Given the description of an element on the screen output the (x, y) to click on. 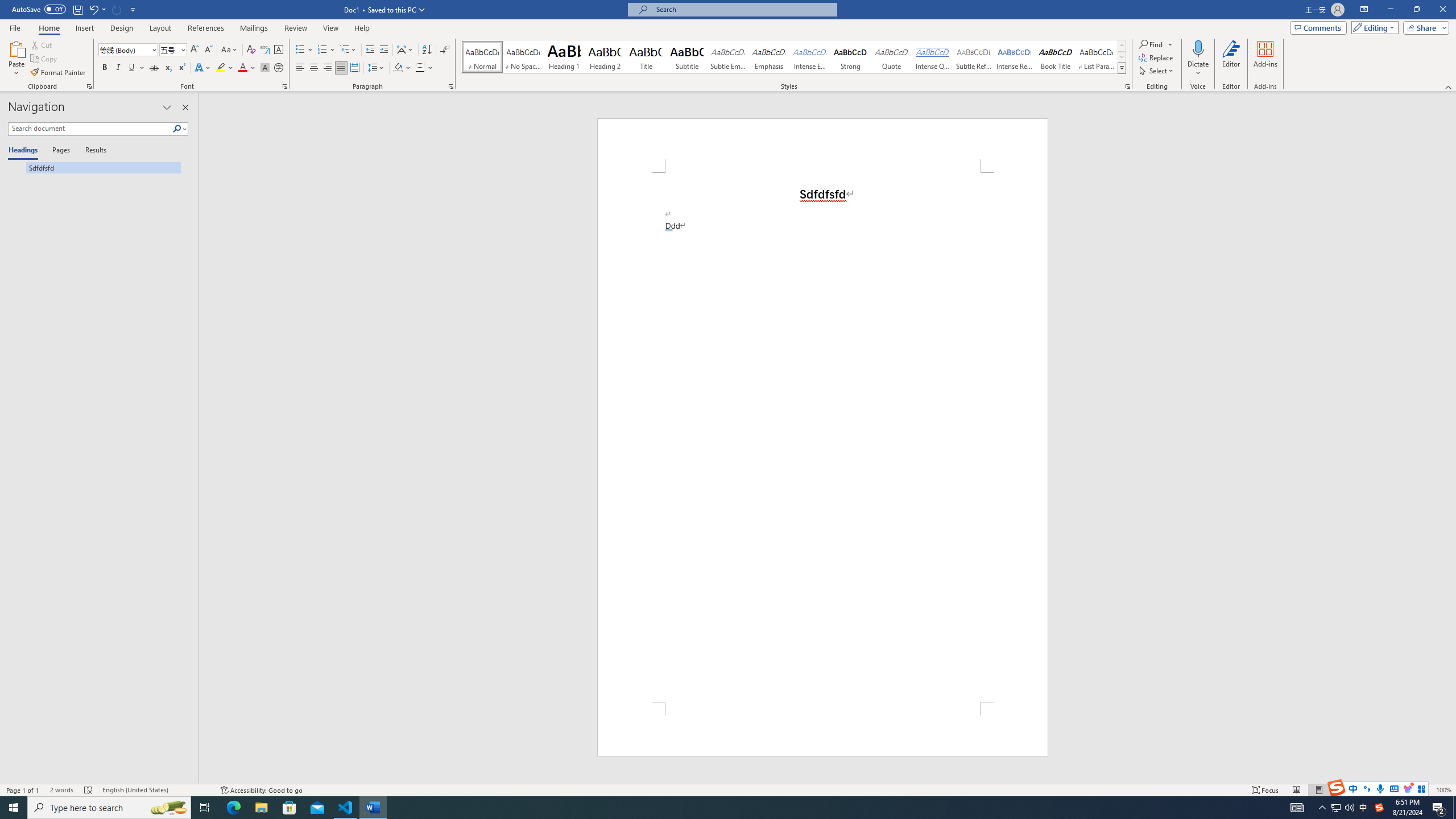
Emphasis (768, 56)
Font Color Red (241, 67)
Sort... (426, 49)
System (6, 6)
Collapse the Ribbon (1448, 86)
Search document (89, 128)
Phonetic Guide... (264, 49)
Restore Down (1416, 9)
Find (1155, 44)
Distributed (354, 67)
Home (48, 28)
Font Size (169, 49)
Layout (160, 28)
